Given the description of an element on the screen output the (x, y) to click on. 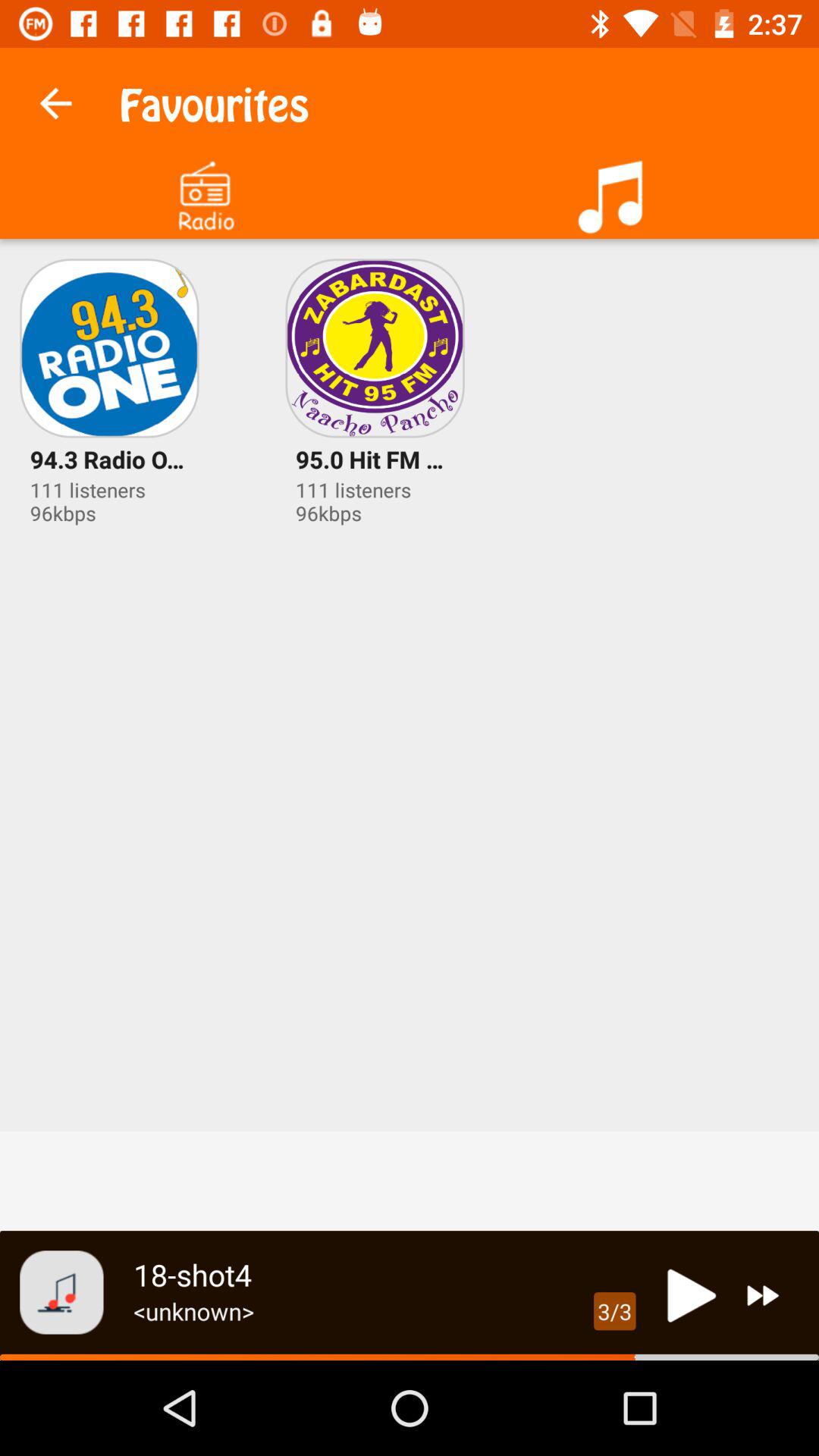
skip button (763, 1295)
